Given the description of an element on the screen output the (x, y) to click on. 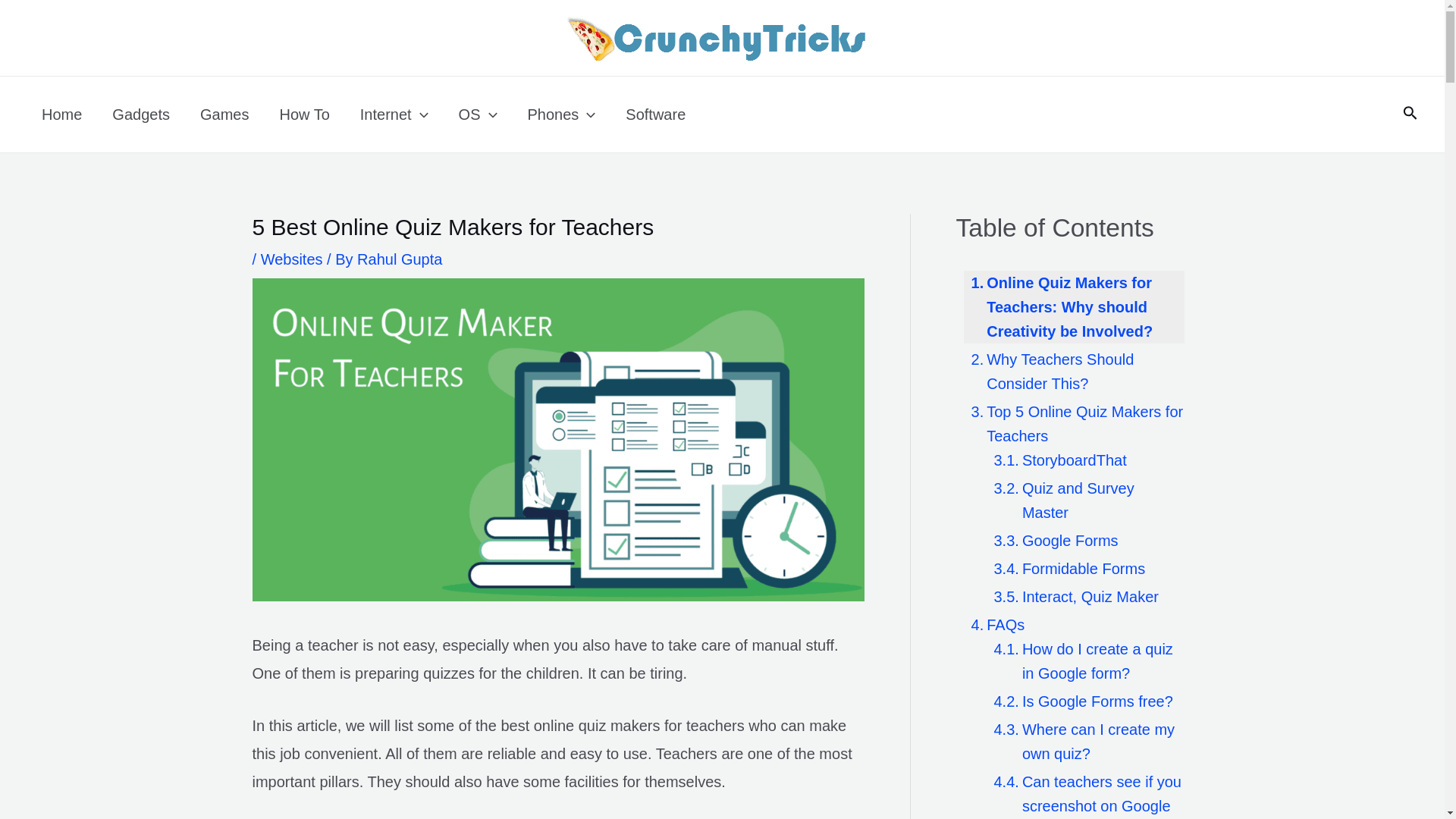
Phones (561, 114)
Quiz and Survey Master (1084, 499)
Formidable Forms (1064, 568)
Websites (291, 258)
OS (478, 114)
How To (303, 114)
Google Forms (1051, 540)
Games (223, 114)
FAQs (993, 624)
Top 5 Online Quiz Makers for Teachers (1072, 423)
Home (61, 114)
Rahul Gupta (399, 258)
Interact, Quiz Maker (1071, 596)
View all posts by Rahul Gupta (399, 258)
